Given the description of an element on the screen output the (x, y) to click on. 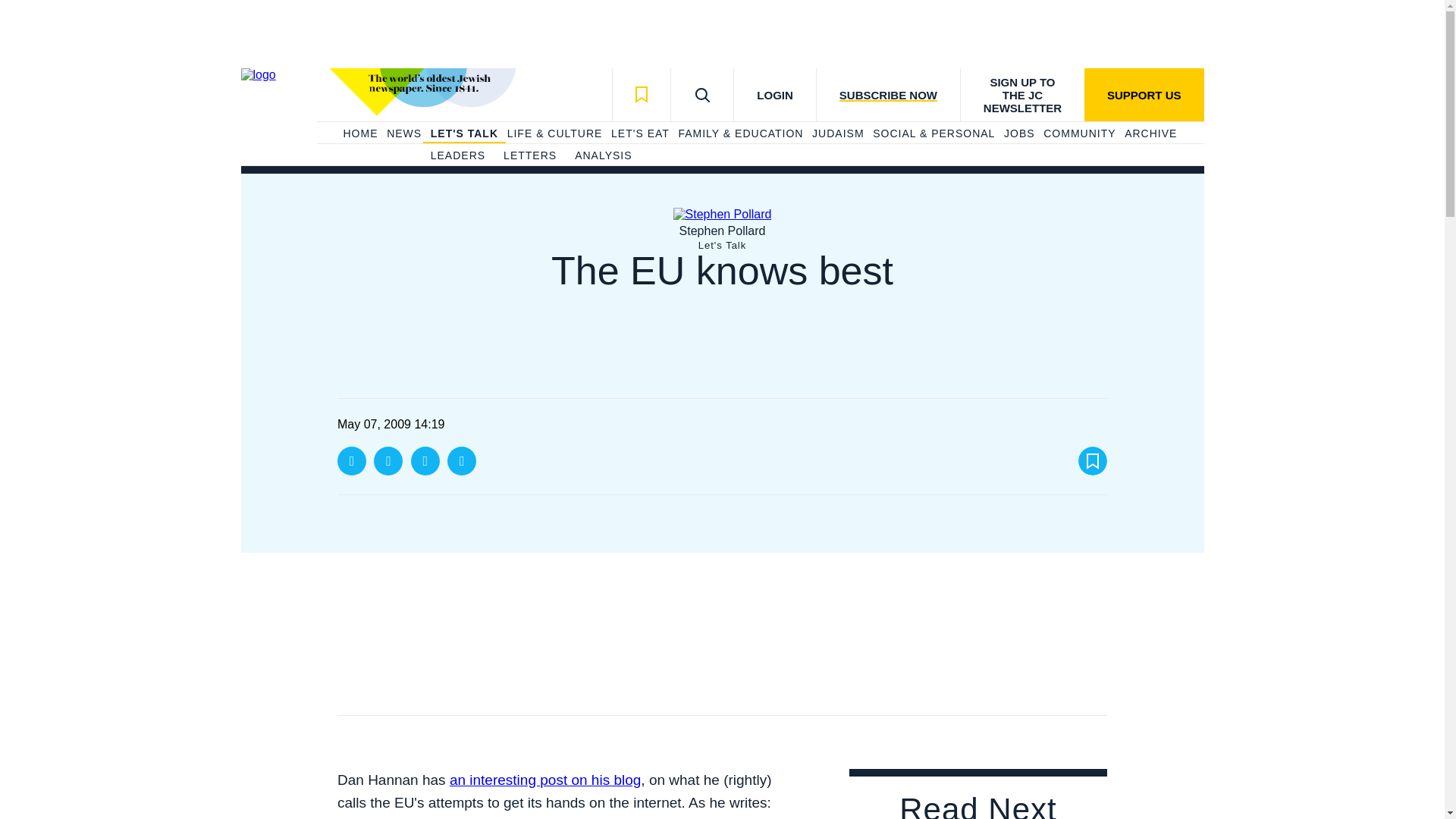
LETTERS (529, 155)
JUDAISM (837, 133)
NEWS (404, 133)
LET'S EAT (640, 133)
HOME (359, 133)
SUBSCRIBE NOW (887, 94)
SUPPORT US (1144, 94)
LOGIN (774, 94)
ANALYSIS (603, 155)
ARCHIVE (1150, 133)
